Given the description of an element on the screen output the (x, y) to click on. 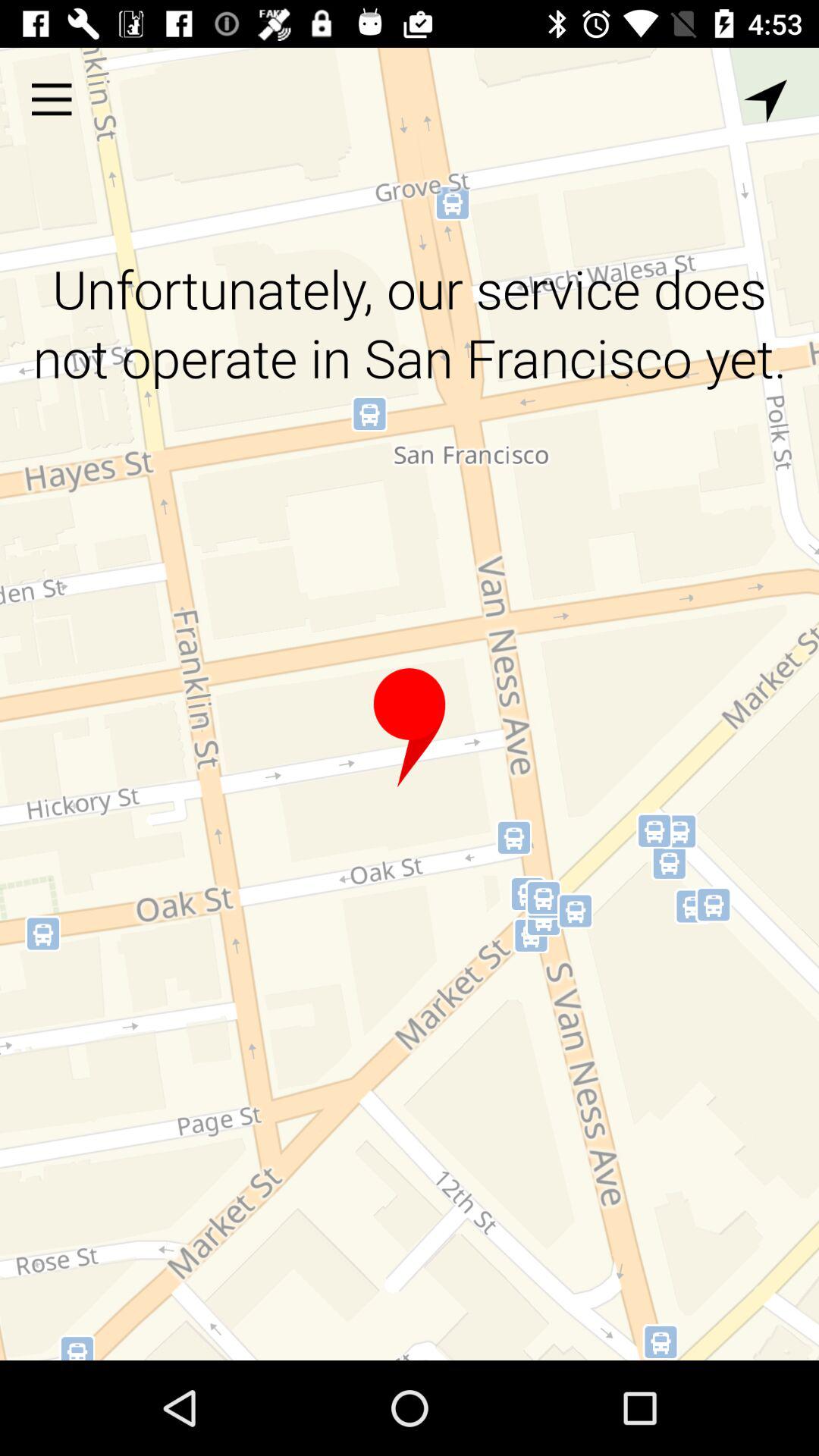
options (51, 99)
